Given the description of an element on the screen output the (x, y) to click on. 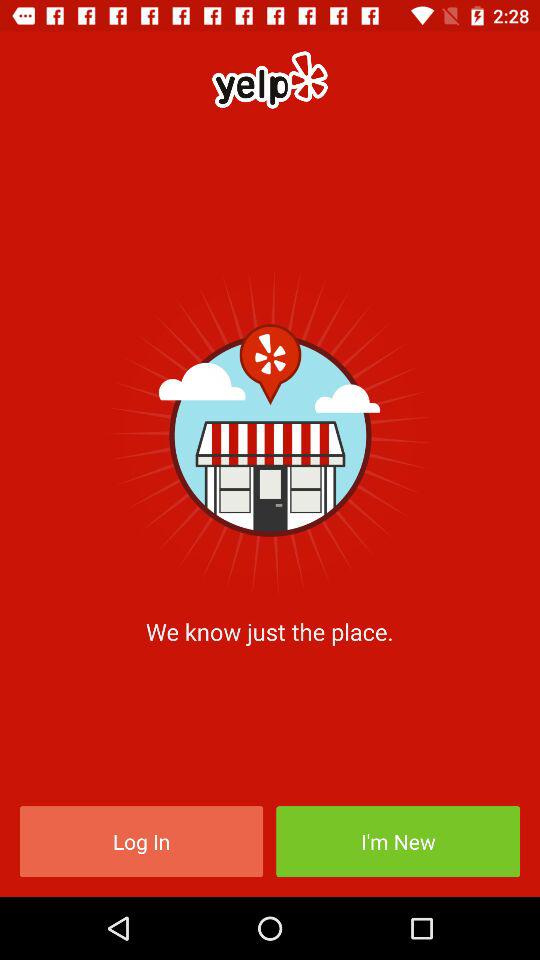
tap the i'm new item (398, 841)
